Given the description of an element on the screen output the (x, y) to click on. 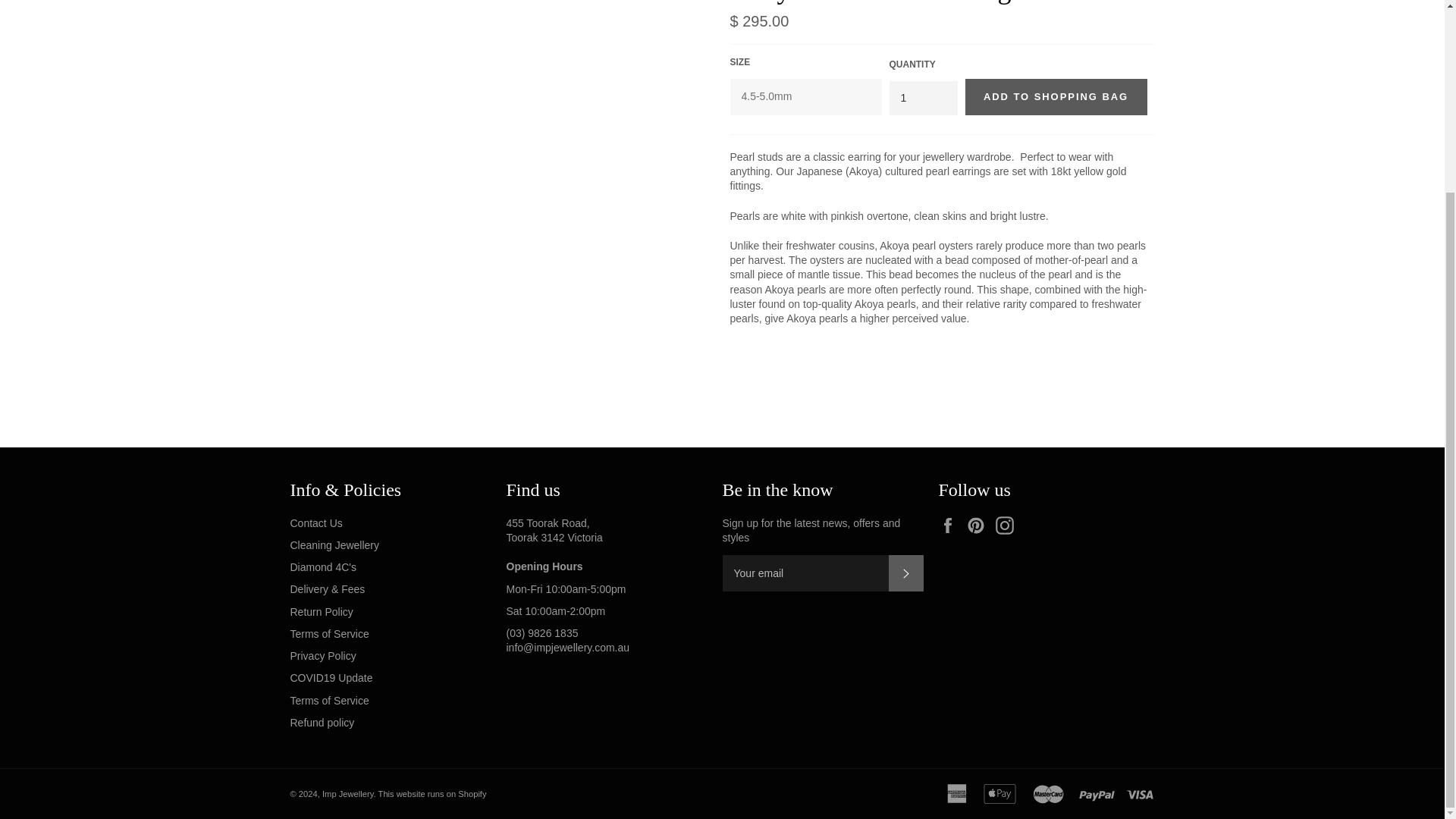
Imp Jewellery on Pinterest (979, 525)
Imp Jewellery on Instagram (1008, 525)
Imp Jewellery on Facebook (951, 525)
1 (922, 98)
